Given the description of an element on the screen output the (x, y) to click on. 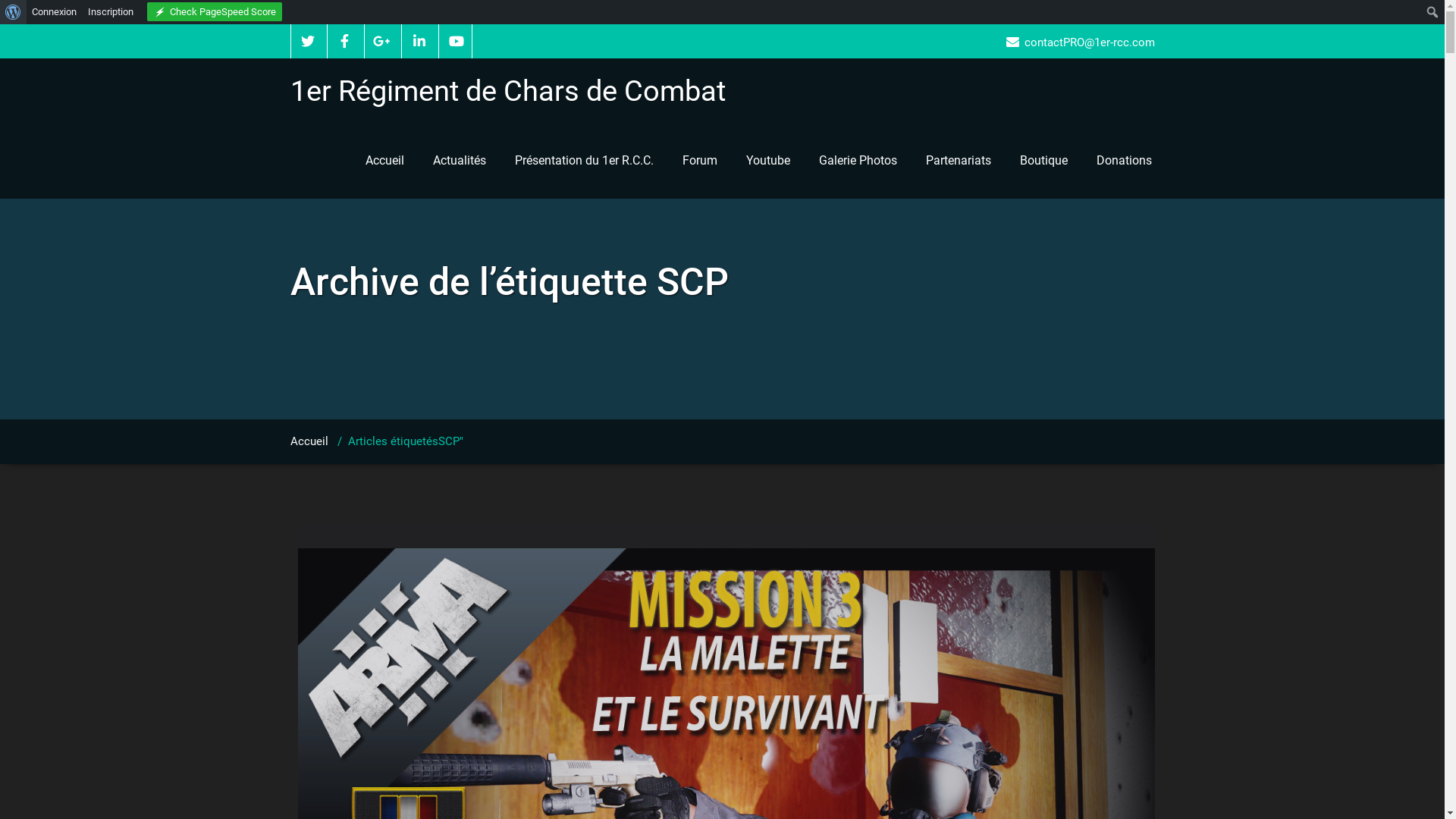
Galerie Photos Element type: text (856, 160)
Rechercher Element type: text (26, 13)
Accueil Element type: text (383, 160)
Inscription Element type: text (110, 12)
Forum Element type: text (699, 160)
Youtube Element type: text (767, 160)
Boutique Element type: text (1043, 160)
Donations Element type: text (1123, 160)
Connexion Element type: text (54, 12)
Partenariats Element type: text (958, 160)
Accueil Element type: text (308, 441)
